Given the description of an element on the screen output the (x, y) to click on. 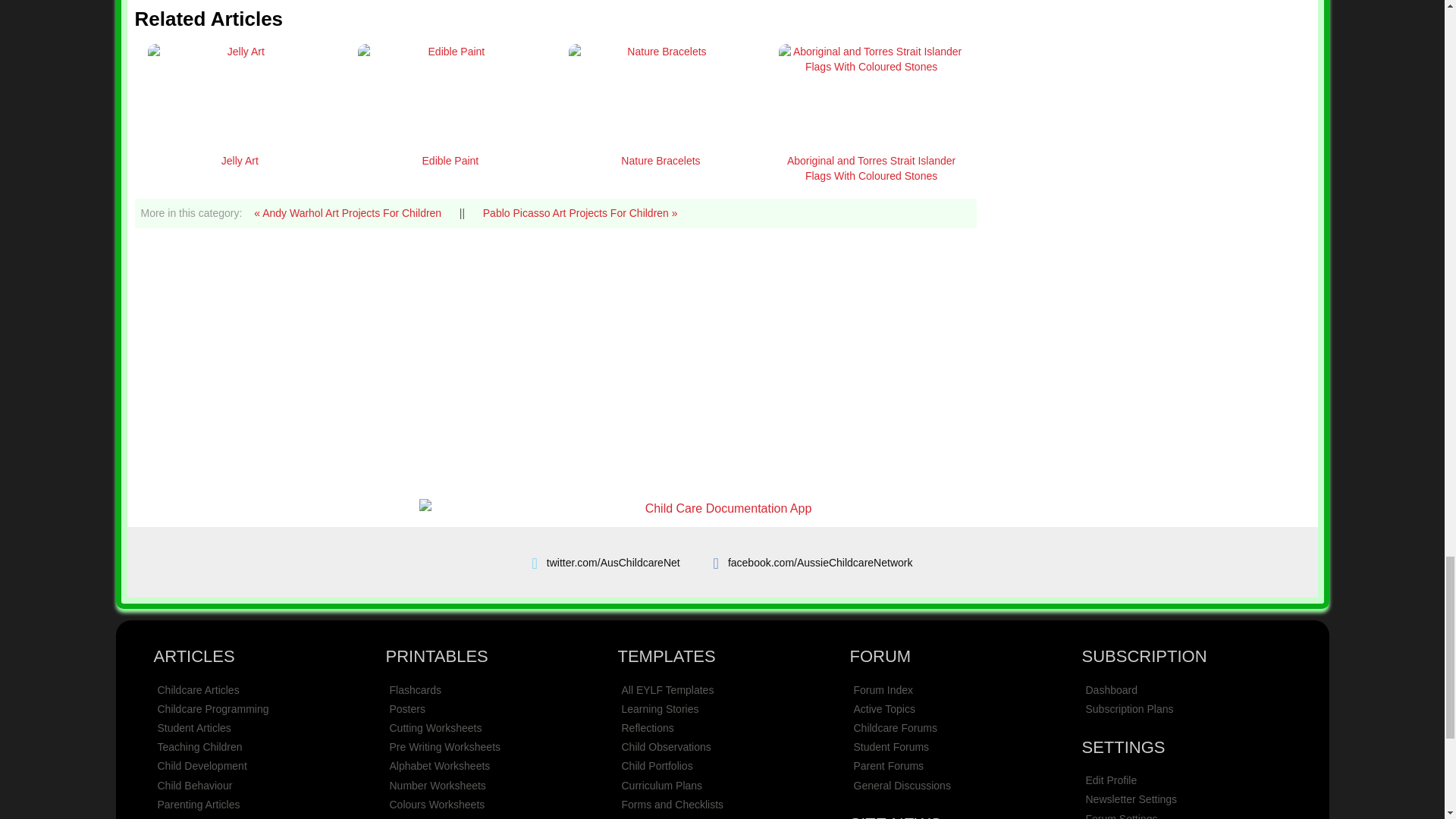
Edible Paint (450, 160)
Nature Bracelets (660, 160)
Jelly Art (239, 160)
